Given the description of an element on the screen output the (x, y) to click on. 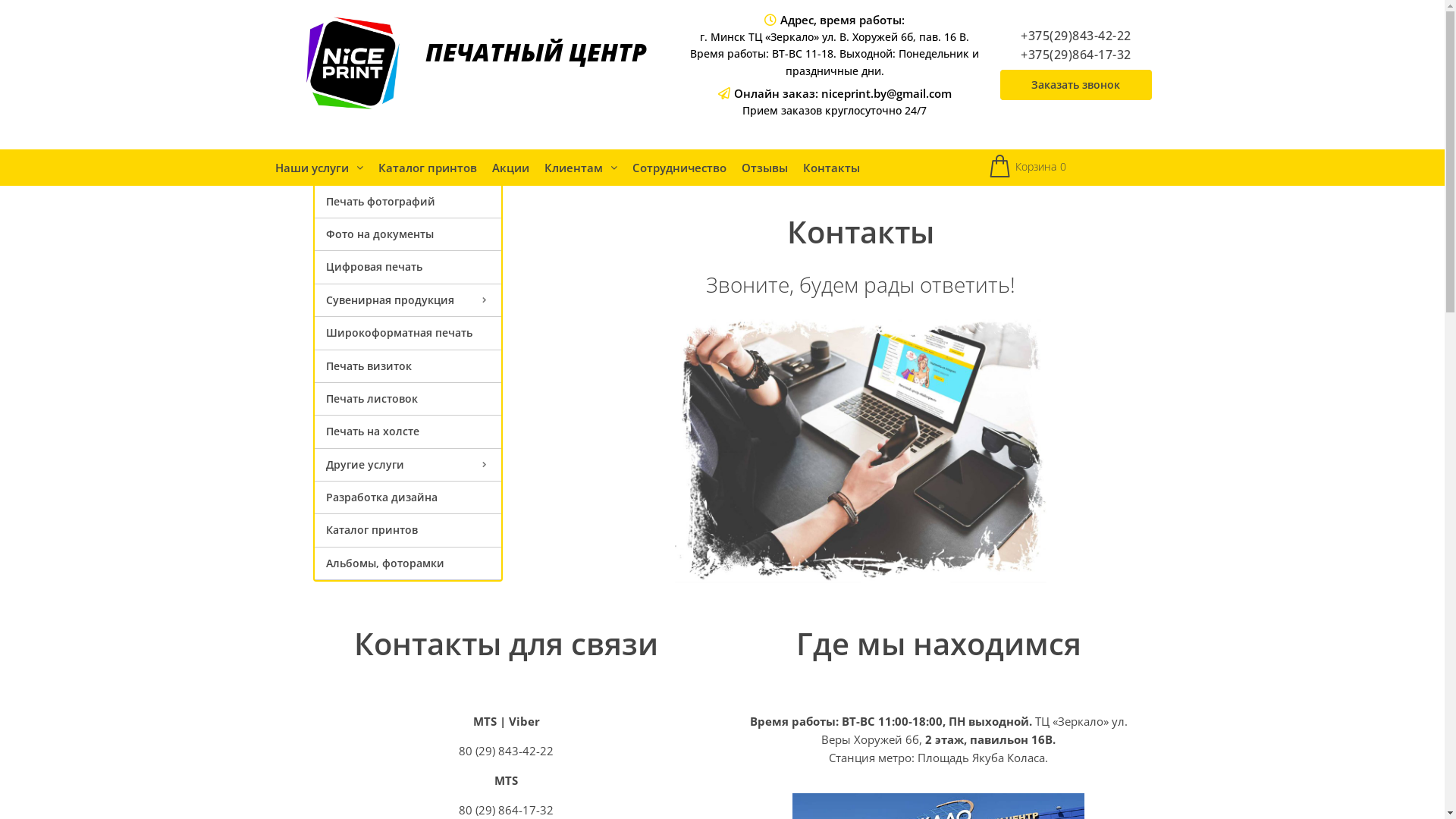
+375(29)843-42-22 Element type: text (1075, 35)
+375(29)864-17-32 Element type: text (1075, 54)
